Given the description of an element on the screen output the (x, y) to click on. 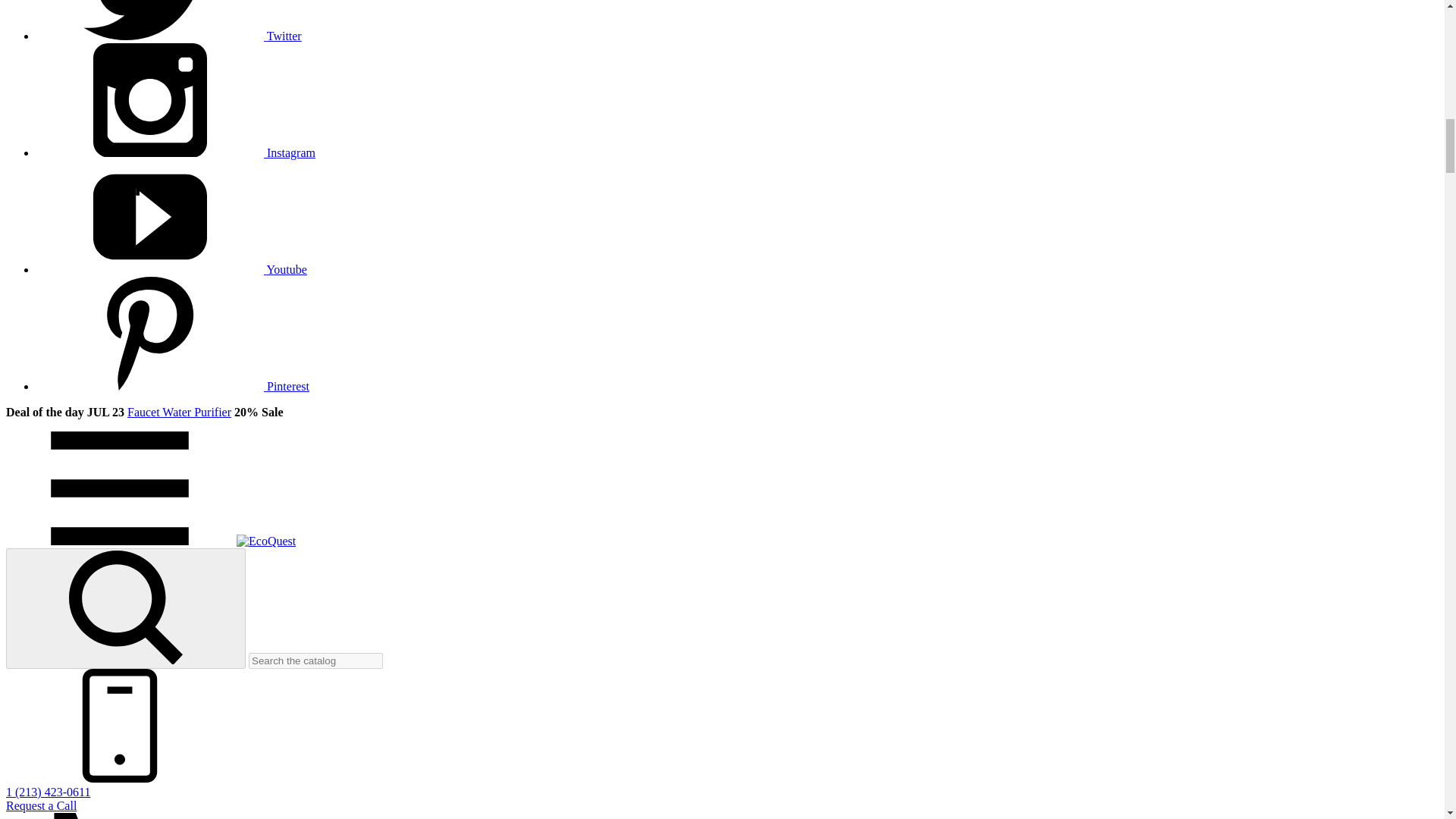
EcoQuest (265, 540)
